Given the description of an element on the screen output the (x, y) to click on. 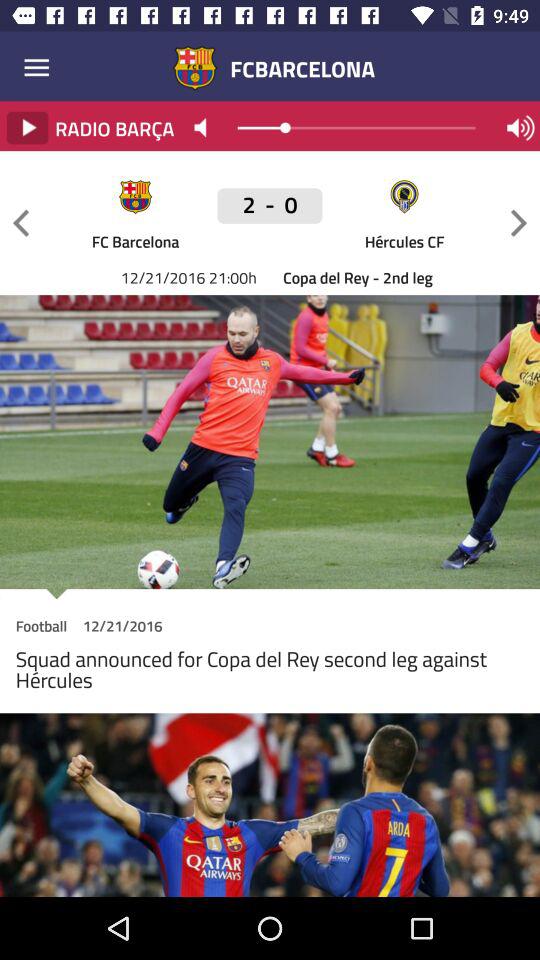
jump until the squad announced for icon (270, 674)
